Given the description of an element on the screen output the (x, y) to click on. 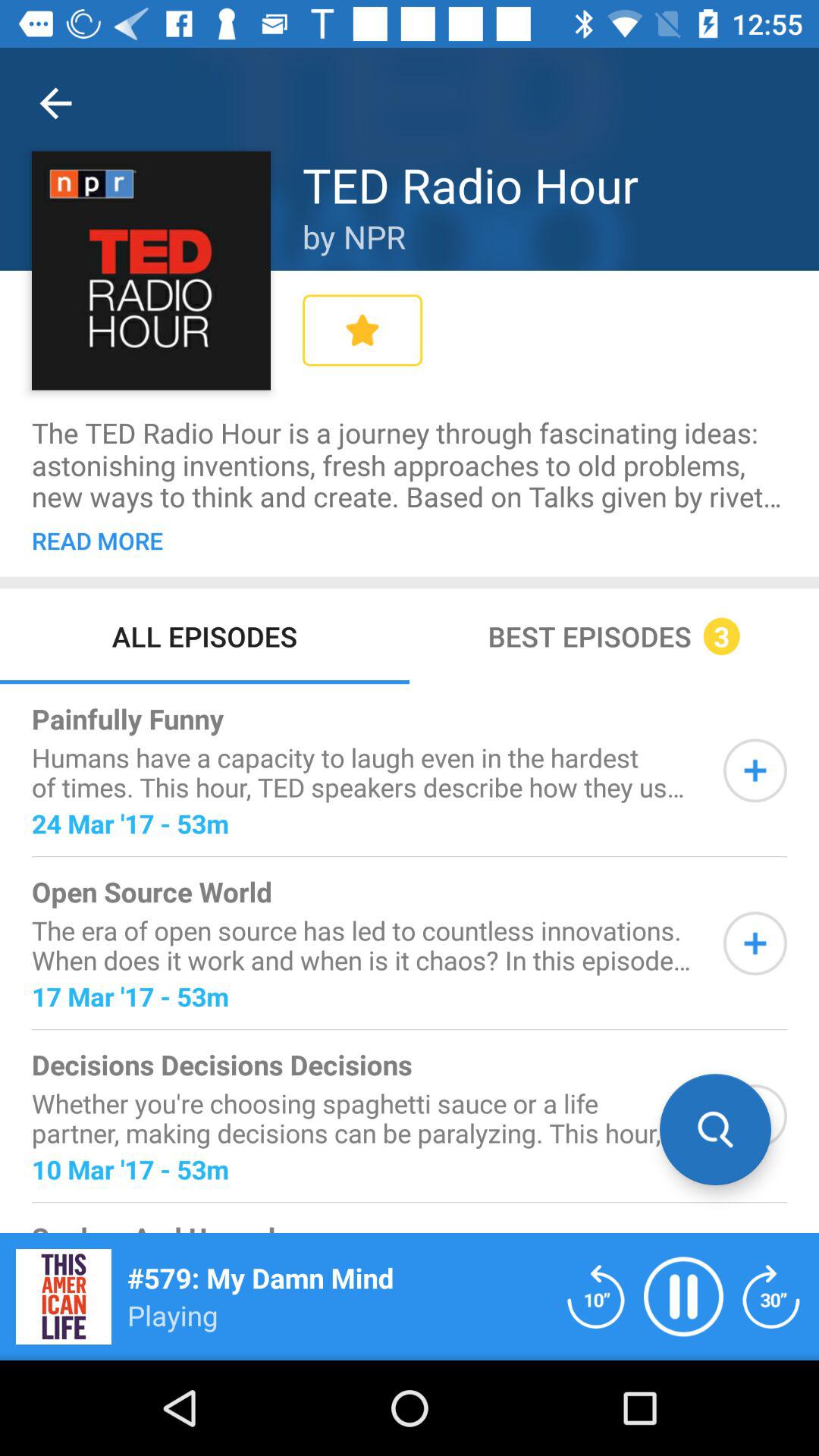
add episode (755, 1116)
